Given the description of an element on the screen output the (x, y) to click on. 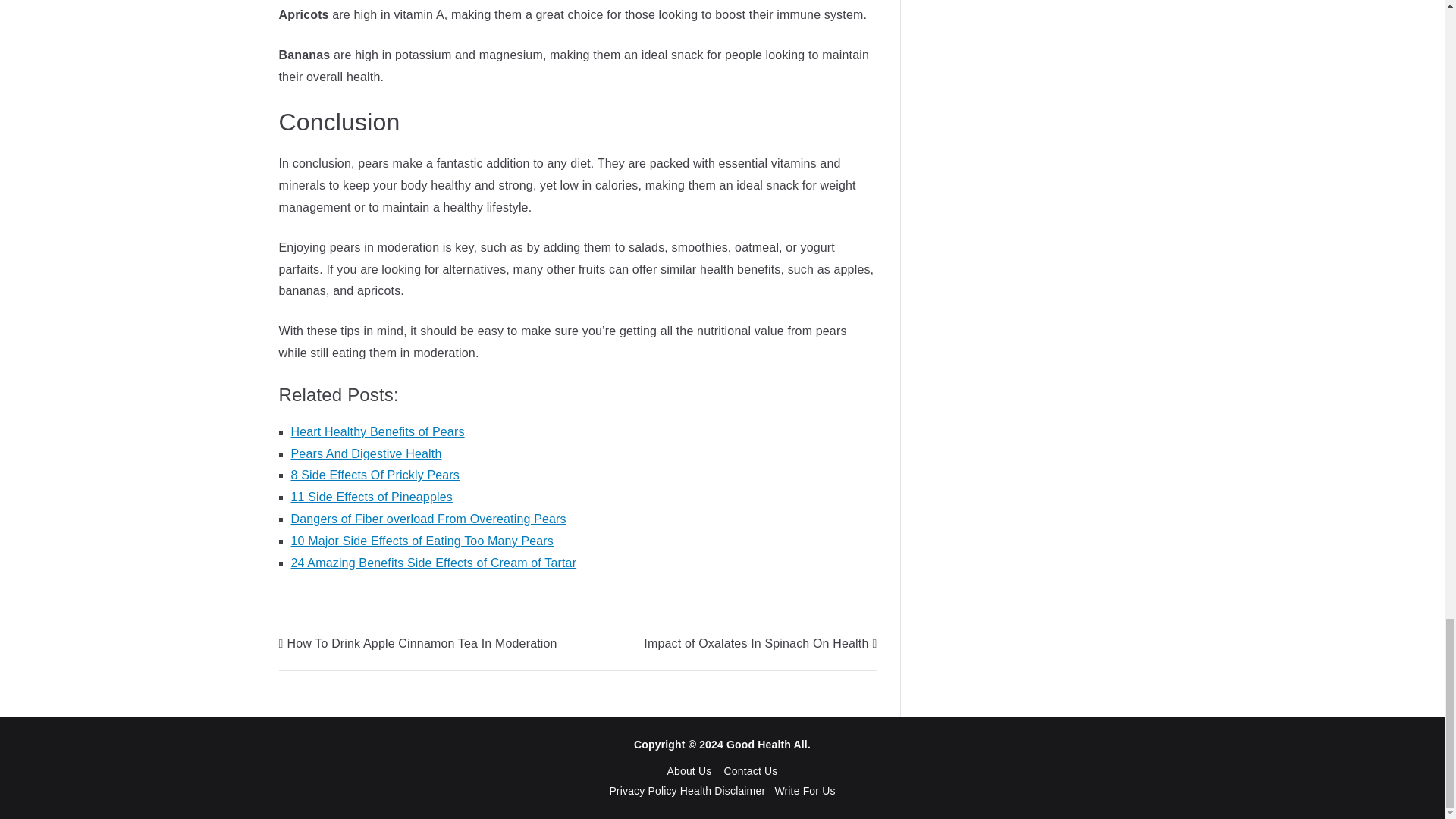
8 Side Effects Of Prickly Pears (375, 474)
Write For Us (804, 790)
How To Drink Apple Cinnamon Tea In Moderation (418, 643)
Good Health All (767, 744)
Heart Healthy Benefits of Pears (377, 431)
Pears And Digestive Health (366, 453)
Impact of Oxalates In Spinach On Health (759, 643)
Health Disclaimer (722, 790)
10 Major Side Effects of Eating Too Many Pears (422, 540)
Good Health All (767, 744)
